Given the description of an element on the screen output the (x, y) to click on. 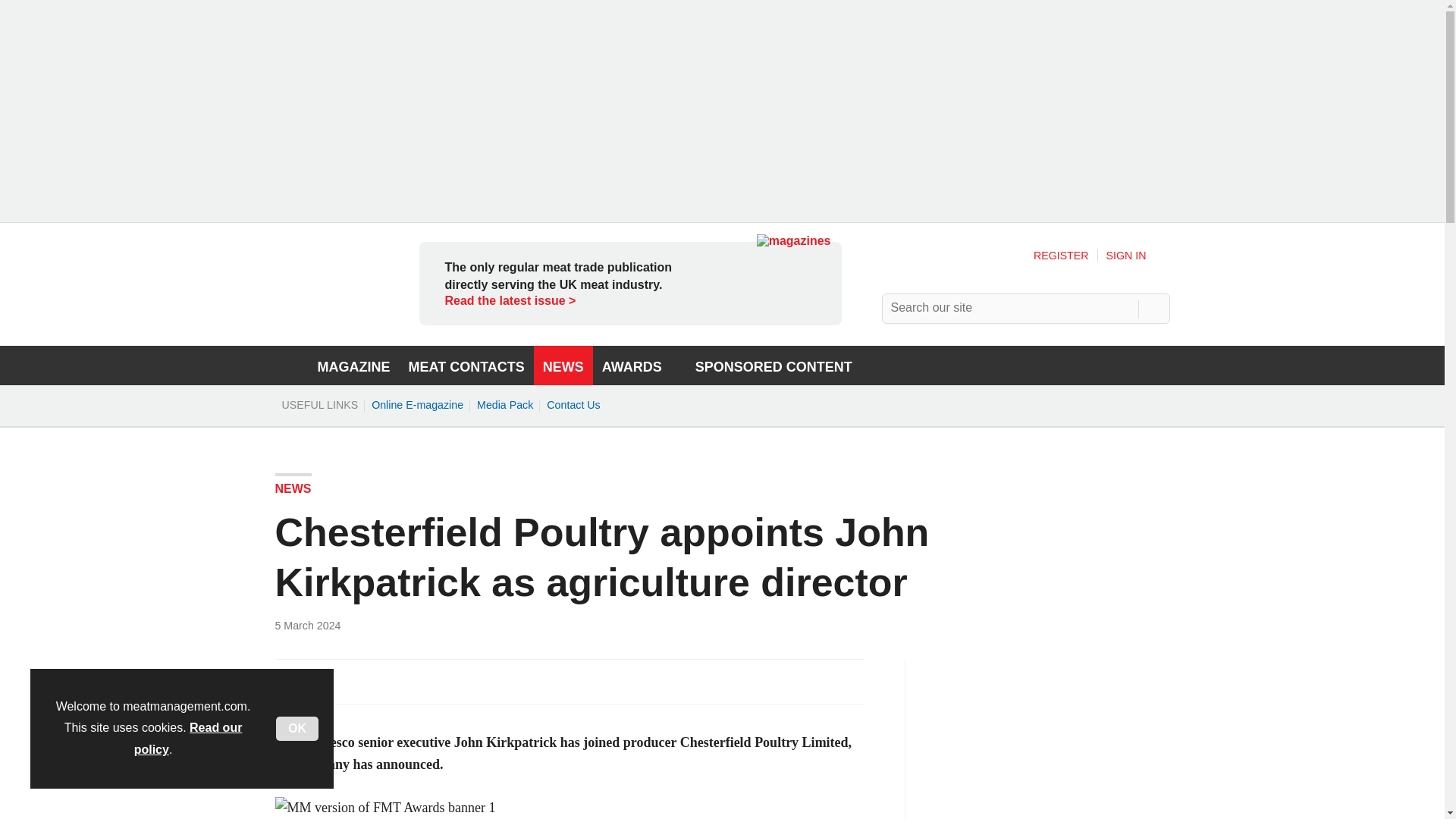
Read our policy (188, 738)
SIGN IN (1138, 255)
HOME (287, 364)
SEARCH (1153, 308)
Meat Management (328, 328)
Share this on Facebook (288, 680)
MEAT CONTACTS (465, 364)
Contact Us (573, 404)
Email this article (386, 680)
MAGAZINE (352, 364)
Media Pack (505, 404)
OK (297, 728)
REGISTER (1061, 255)
Online E-magazine (417, 404)
Share this on LinkedIn (352, 680)
